Given the description of an element on the screen output the (x, y) to click on. 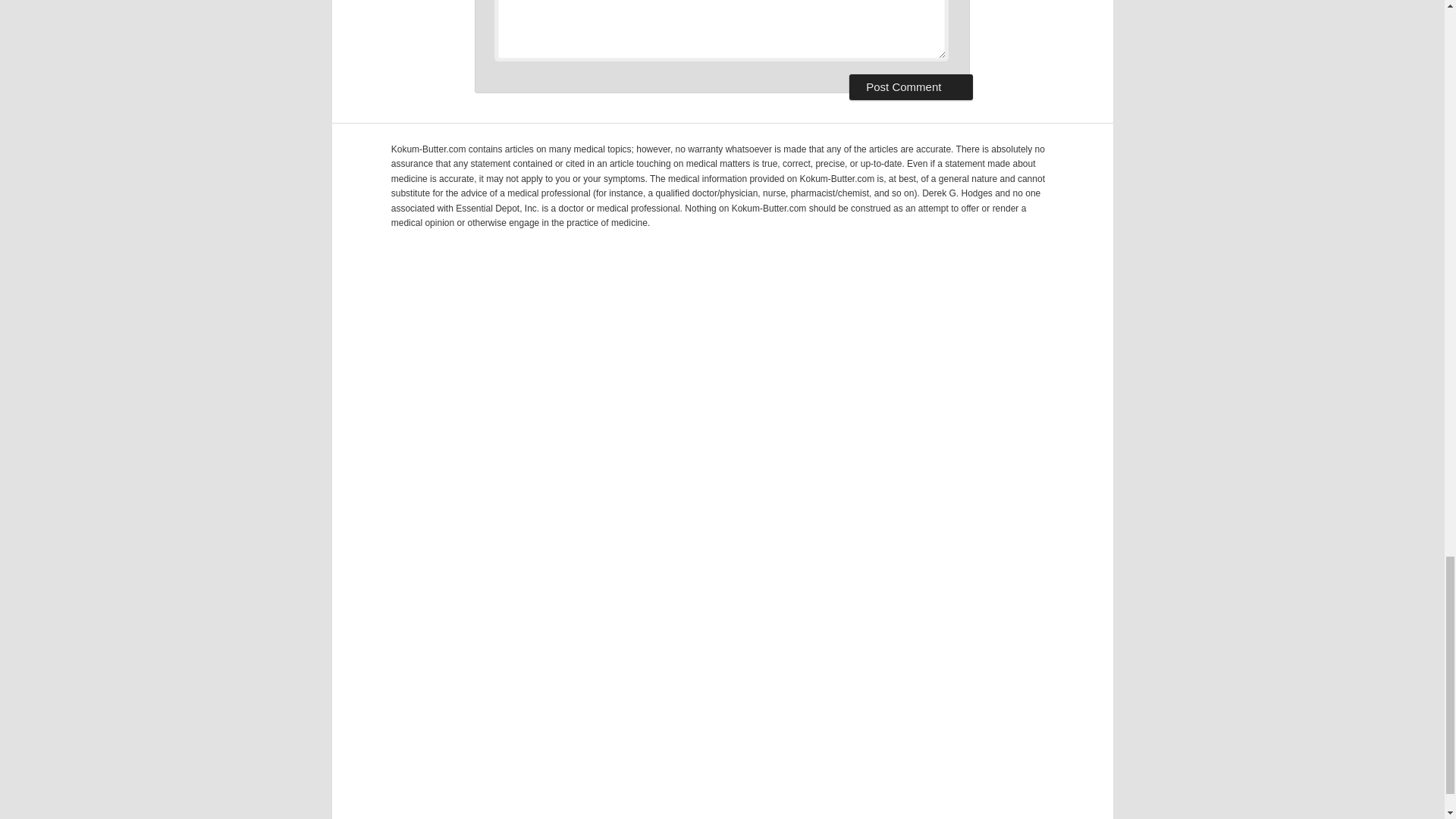
Post Comment (910, 86)
Post Comment (910, 86)
